Given the description of an element on the screen output the (x, y) to click on. 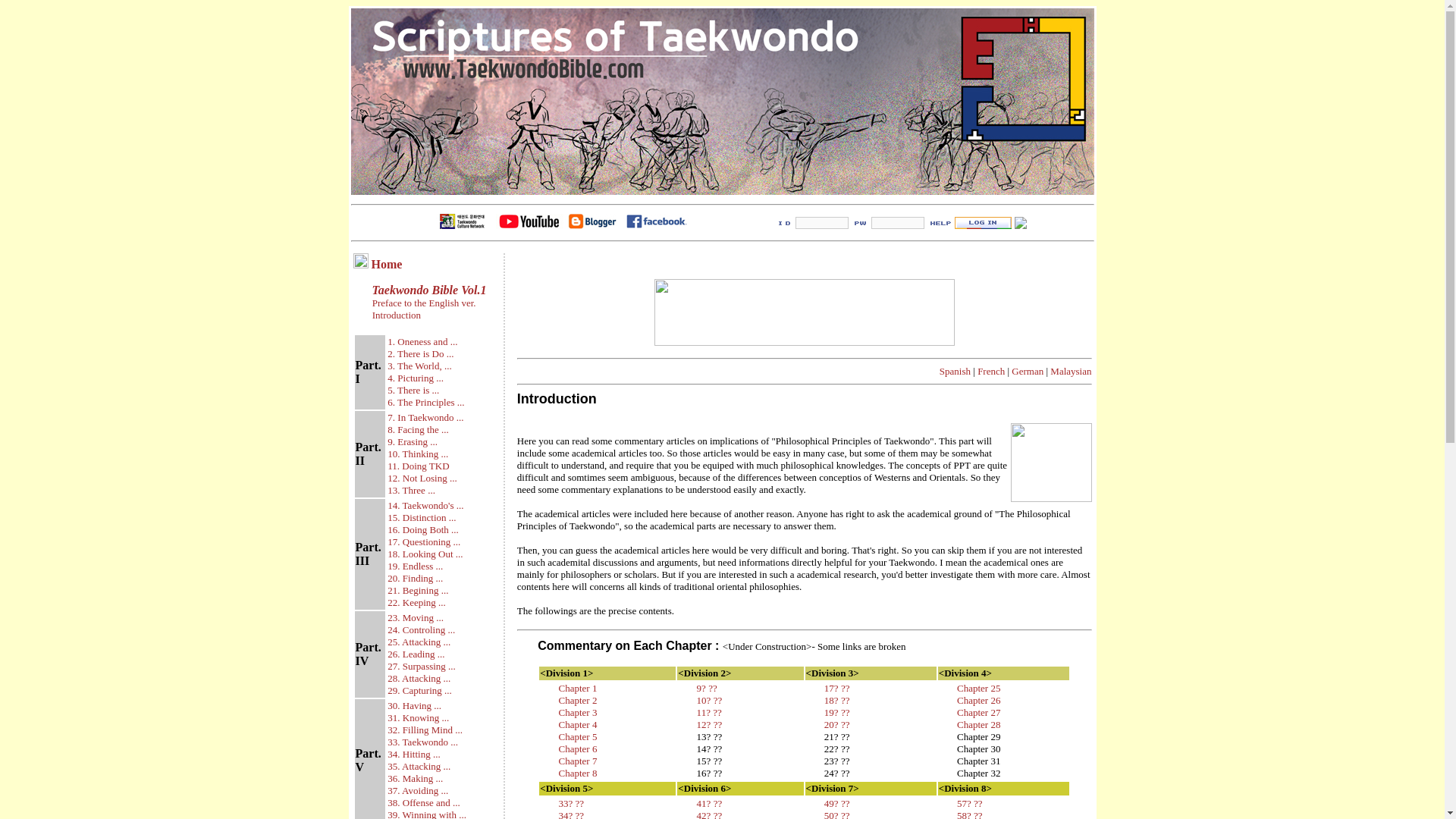
7. In Taekwondo ... (425, 417)
4. Picturing ... (415, 376)
16. Doing Both ... (422, 529)
18. Looking Out ... (425, 553)
Home (387, 264)
3. The World, ... (419, 365)
8. Facing the ... (417, 429)
Taekwondo Bible Vol.1 (428, 289)
15. Distinction ... (421, 517)
24. Controling ... (420, 629)
